Given the description of an element on the screen output the (x, y) to click on. 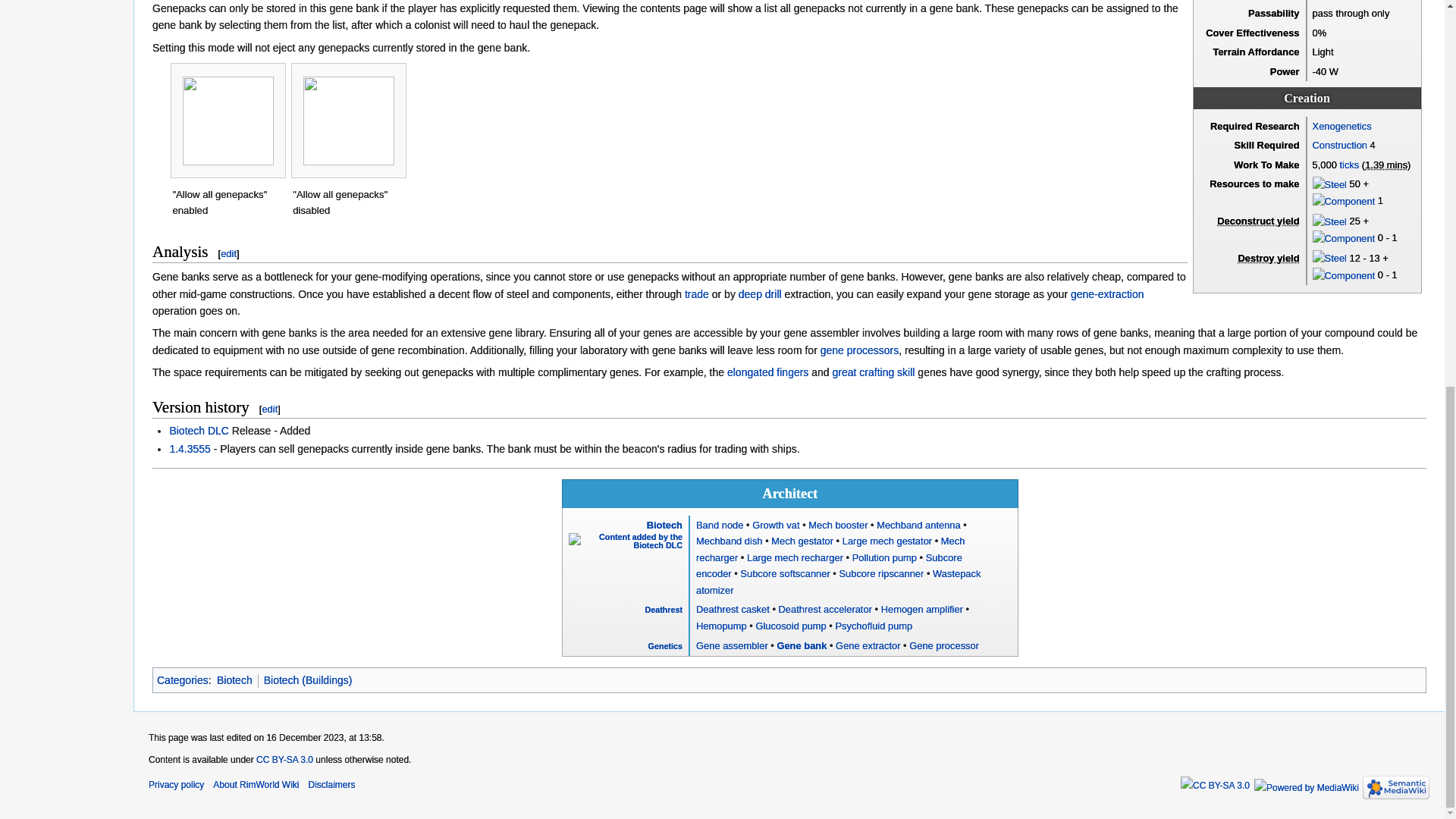
Research (1342, 125)
Time (1348, 164)
Skills (1340, 144)
real-time at 1x speed (1386, 164)
Component (1344, 200)
Xenogenetics (1342, 125)
Construction (1340, 144)
ticks (1348, 164)
Steel (1329, 183)
